Given the description of an element on the screen output the (x, y) to click on. 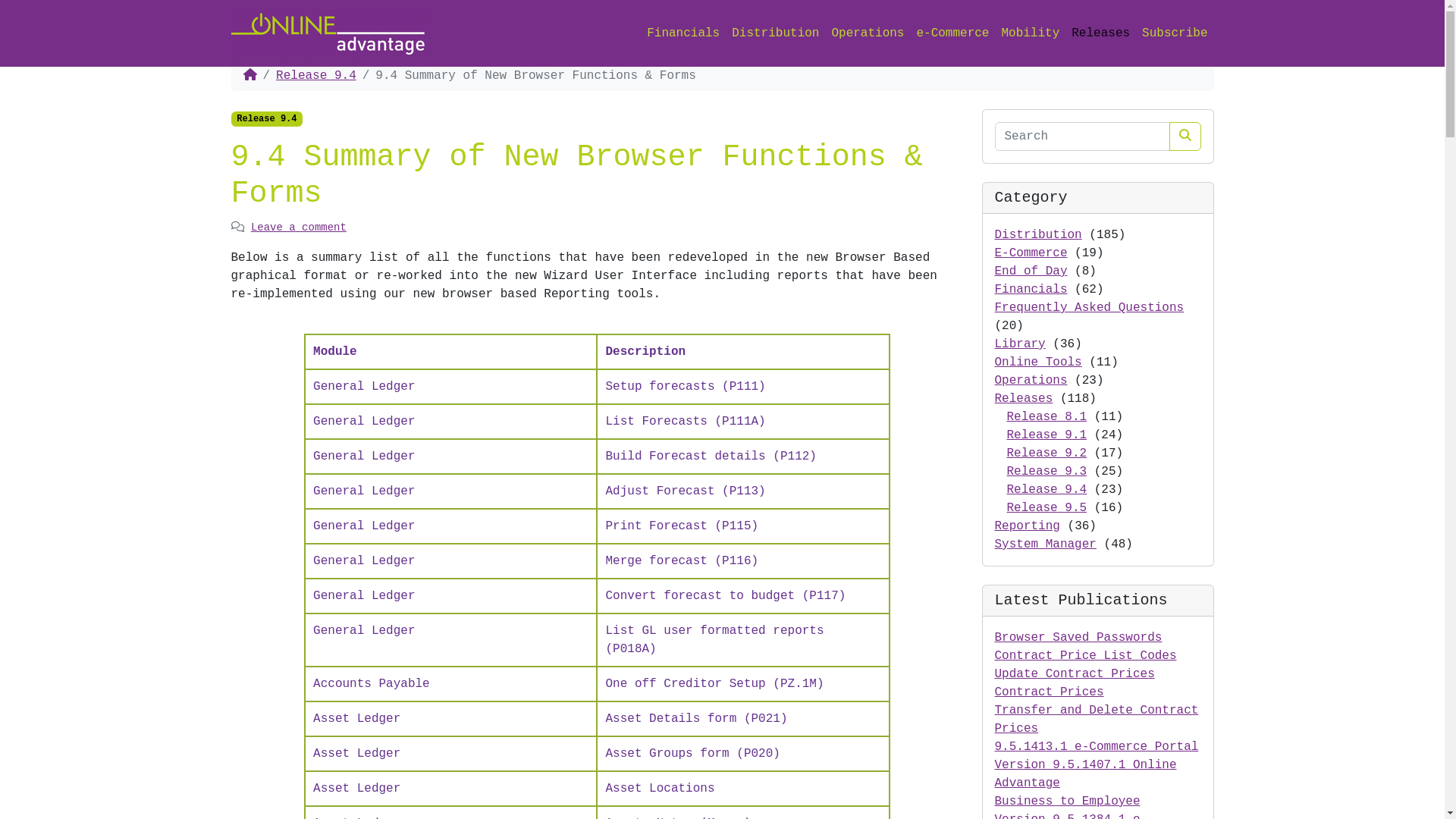
e-Commerce Element type: text (952, 33)
Frequently Asked Questions Element type: text (1089, 307)
Release 9.1 Element type: text (1047, 435)
Releases Element type: text (1023, 398)
Release 9.2 Element type: text (1047, 453)
Subscribe Element type: text (1174, 33)
Releases Element type: text (1100, 33)
9.5.1413.1 e-Commerce Portal Element type: text (1096, 746)
Contract Prices Element type: text (1049, 692)
Contract Price List Codes Element type: text (1085, 655)
Leave a comment Element type: text (298, 227)
Release 9.4 Element type: text (1047, 489)
Operations Element type: text (867, 33)
Library Element type: text (1019, 344)
Version 9.5.1407.1 Online Advantage Element type: text (1085, 774)
Release 9.4 Element type: text (316, 75)
Update Contract Prices Element type: text (1074, 673)
Release 9.3 Element type: text (1047, 471)
End of Day Element type: text (1030, 271)
Release 9.5 Element type: text (1047, 507)
System Manager Element type: text (1045, 544)
Release 8.1 Element type: text (1047, 416)
Financials Element type: text (682, 33)
Transfer and Delete Contract Prices Element type: text (1096, 719)
Distribution Element type: text (1038, 234)
Operations Element type: text (1030, 380)
Browser Saved Passwords Element type: text (1078, 637)
Search Element type: text (1185, 136)
Release 9.4 Element type: text (266, 118)
Financials Element type: text (1030, 289)
Mobility Element type: text (1029, 33)
Distribution Element type: text (775, 33)
Online Tools Element type: text (1038, 362)
Reporting Element type: text (1027, 526)
Business to Employee Element type: text (1067, 801)
E-Commerce Element type: text (1030, 253)
